Given the description of an element on the screen output the (x, y) to click on. 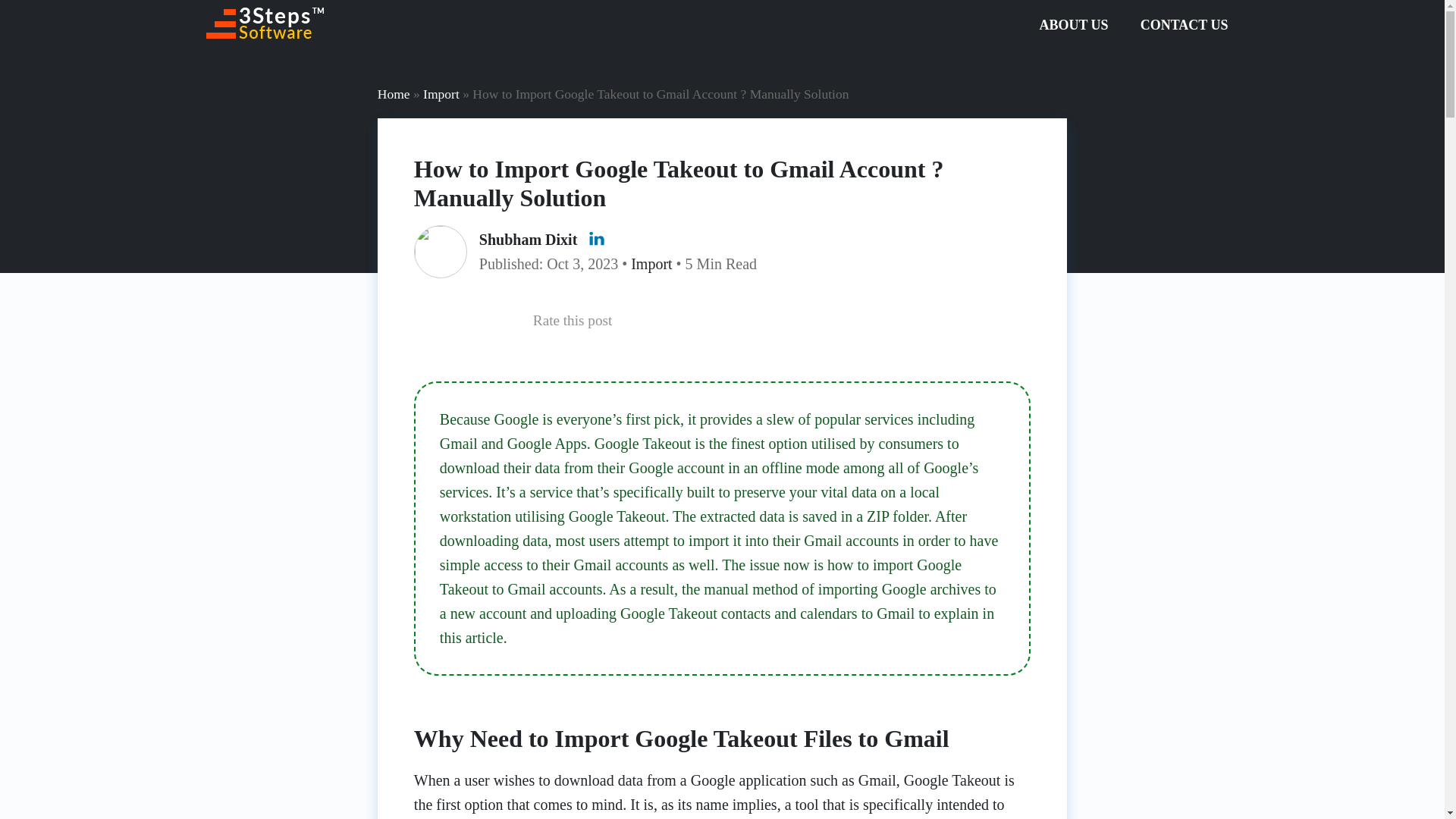
ABOUT US (1072, 24)
Shubham Dixit (528, 239)
CONTACT US (1184, 24)
Import (441, 93)
Import (650, 263)
Home (393, 93)
